Given the description of an element on the screen output the (x, y) to click on. 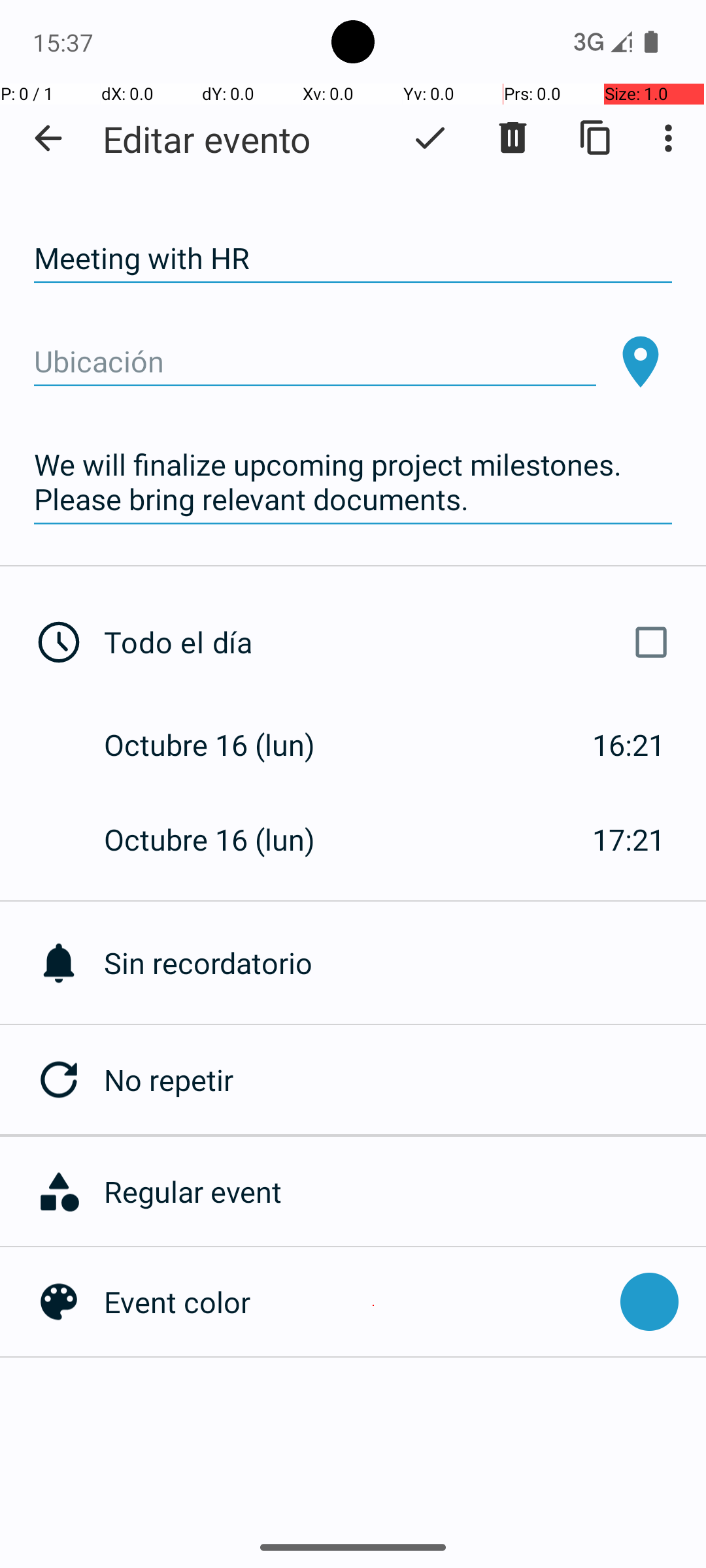
Editar evento Element type: android.widget.TextView (206, 138)
Guardar Element type: android.widget.Button (429, 137)
Eliminar Element type: android.widget.Button (512, 137)
Duplicar un evento Element type: android.widget.Button (595, 137)
Meeting with HR Element type: android.widget.EditText (352, 258)
Ubicación Element type: android.widget.EditText (314, 361)
We will finalize upcoming project milestones. Please bring relevant documents. Element type: android.widget.EditText (352, 482)
Octubre 16 (lun) Element type: android.widget.TextView (222, 744)
16:21 Element type: android.widget.TextView (628, 744)
17:21 Element type: android.widget.TextView (628, 838)
Sin recordatorio Element type: android.widget.TextView (404, 962)
No repetir Element type: android.widget.TextView (404, 1079)
Todo el día Element type: android.widget.CheckBox (390, 642)
15:37 Element type: android.widget.TextView (64, 41)
